Given the description of an element on the screen output the (x, y) to click on. 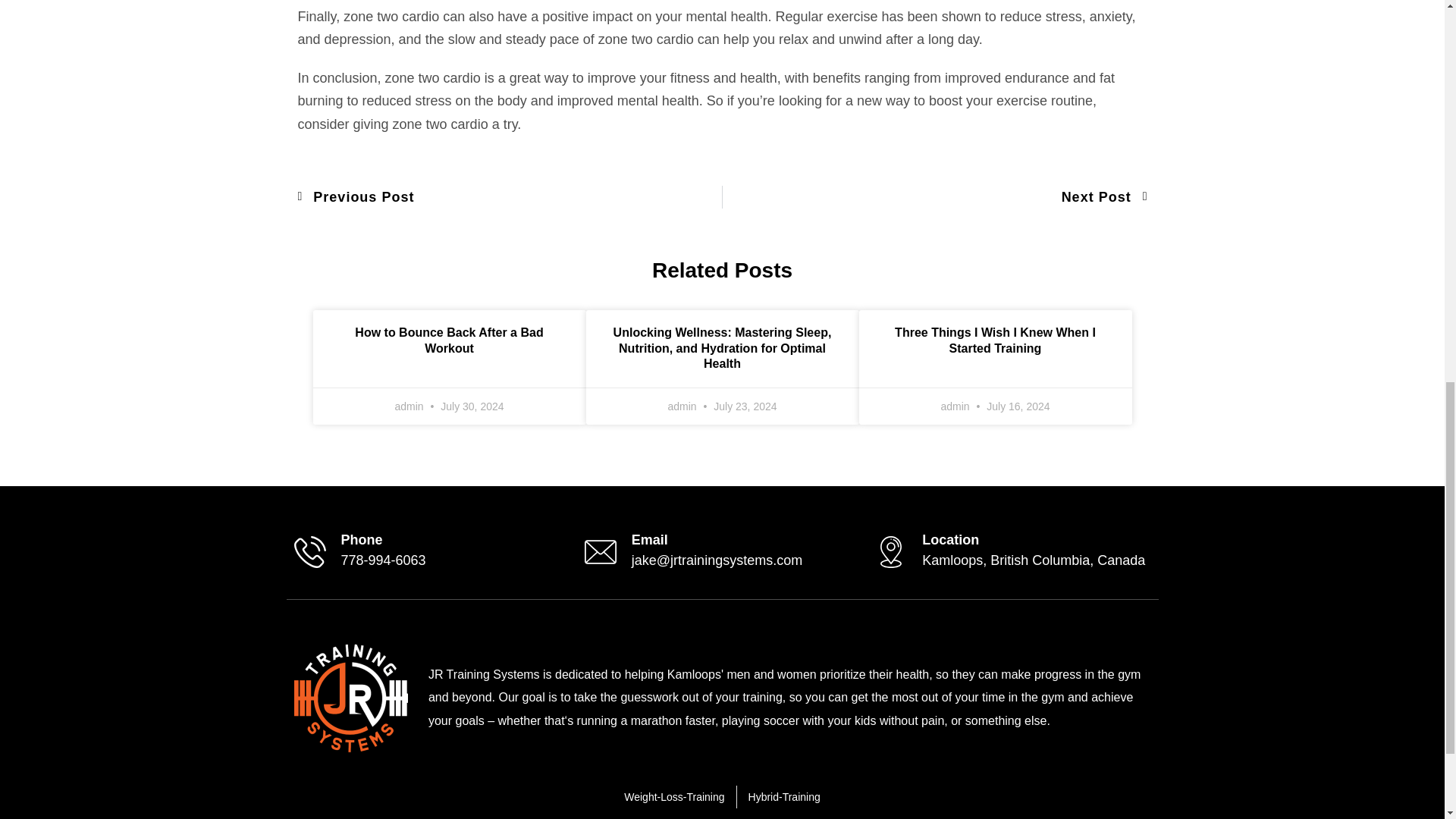
Three Things I Wish I Knew When I Started Training (995, 339)
How to Bounce Back After a Bad Workout (449, 339)
Email (509, 197)
Weight-Loss-Training (649, 539)
jackrichardlogo-Main.png (673, 797)
Hybrid-Training (934, 197)
Phone (350, 698)
